Given the description of an element on the screen output the (x, y) to click on. 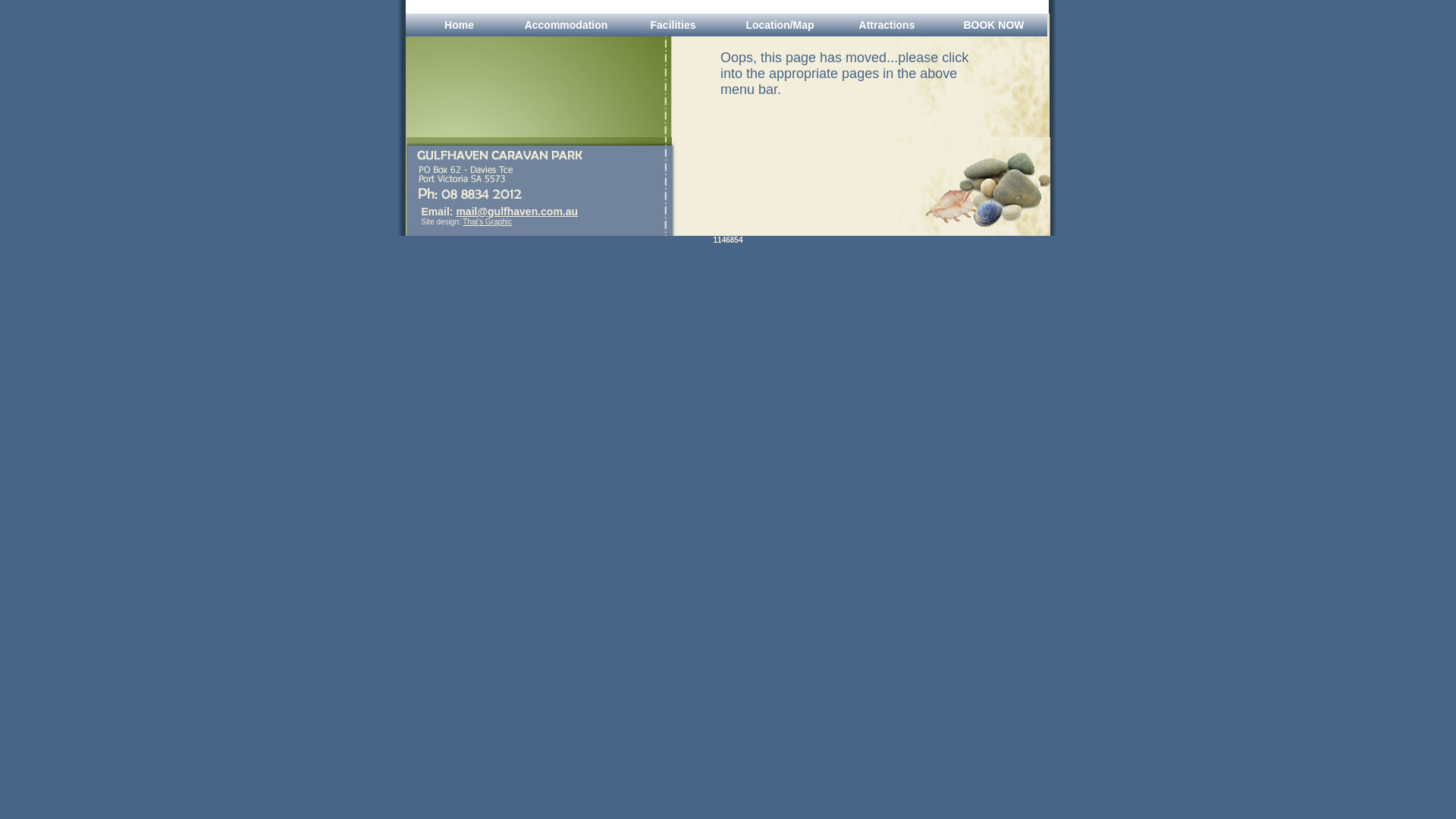
Home Element type: text (458, 24)
mail@gulfhaven.com.au Element type: text (516, 211)
Attractions Element type: text (886, 24)
Accommodation Element type: text (565, 24)
Facilities Element type: text (672, 24)
Location/Map Element type: text (779, 24)
That's Graphic Element type: text (486, 221)
BOOK NOW Element type: text (993, 24)
